Given the description of an element on the screen output the (x, y) to click on. 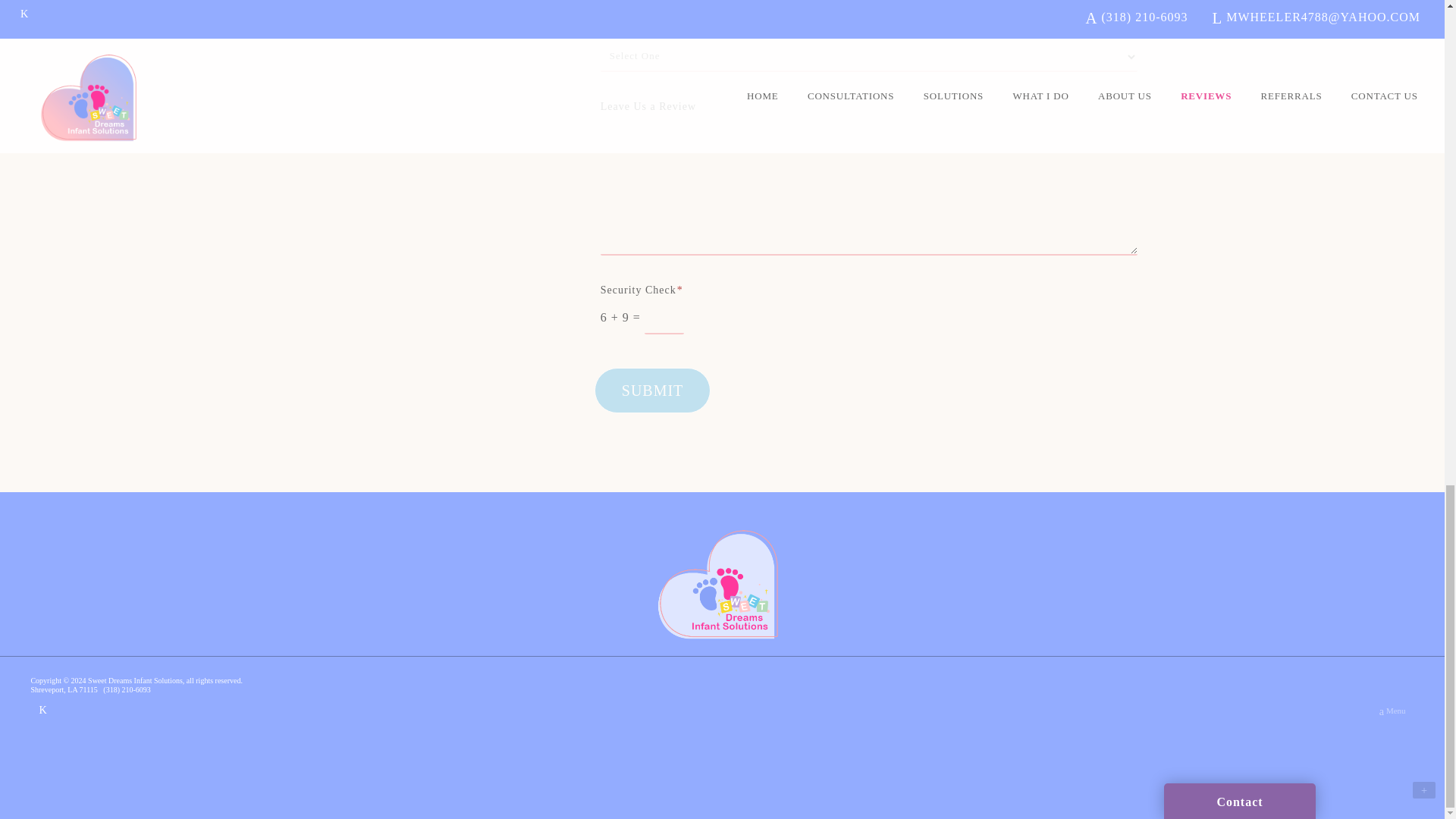
Open Menu (1392, 710)
Menu (1392, 710)
Facebook (42, 709)
Sweet Dreams Infant Solutions (722, 582)
Submit (652, 390)
